Given the description of an element on the screen output the (x, y) to click on. 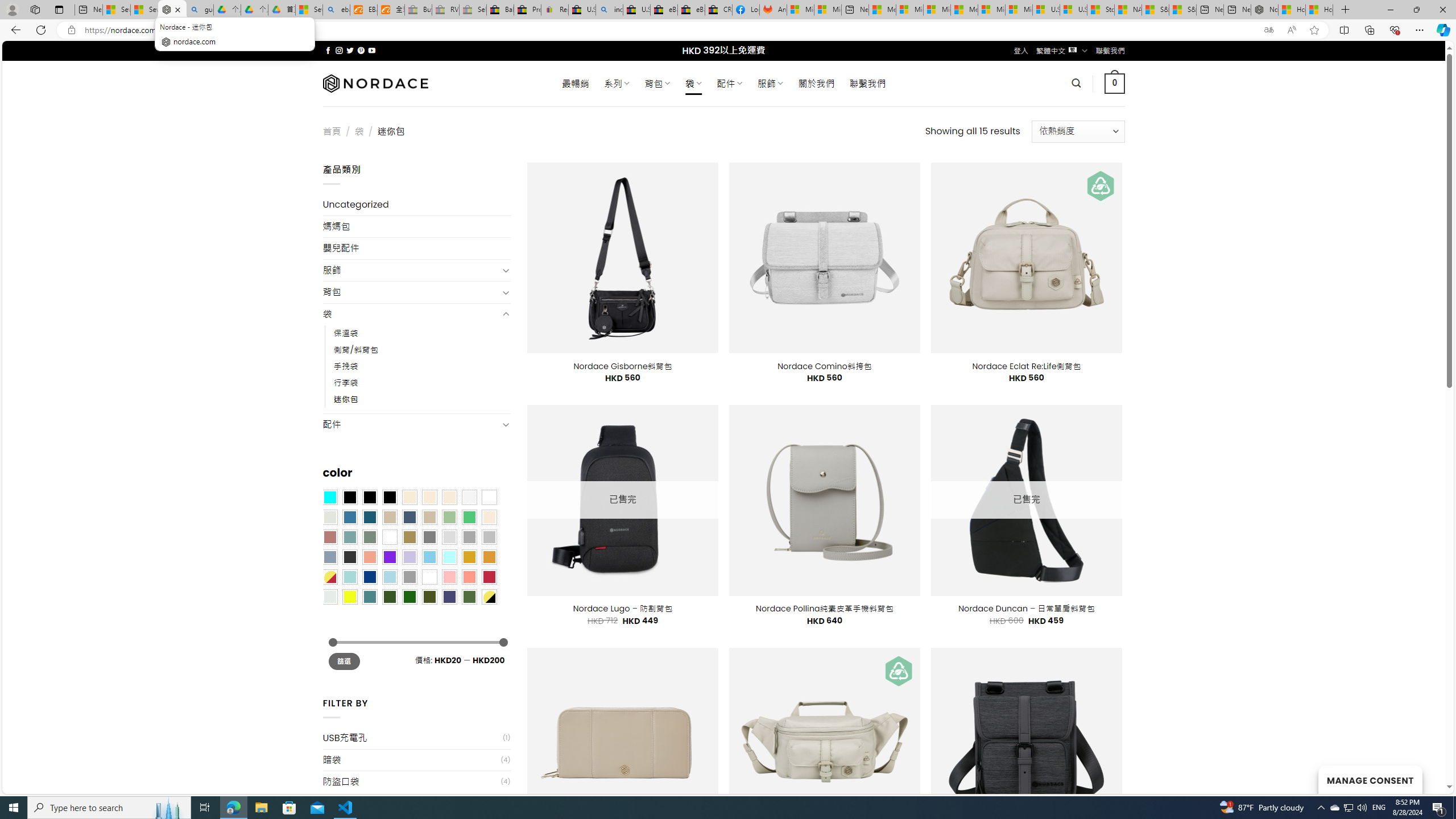
eBay Inc. Reports Third Quarter 2023 Results (691, 9)
Log into Facebook (746, 9)
U.S. State Privacy Disclosures - eBay Inc. (636, 9)
